Given the description of an element on the screen output the (x, y) to click on. 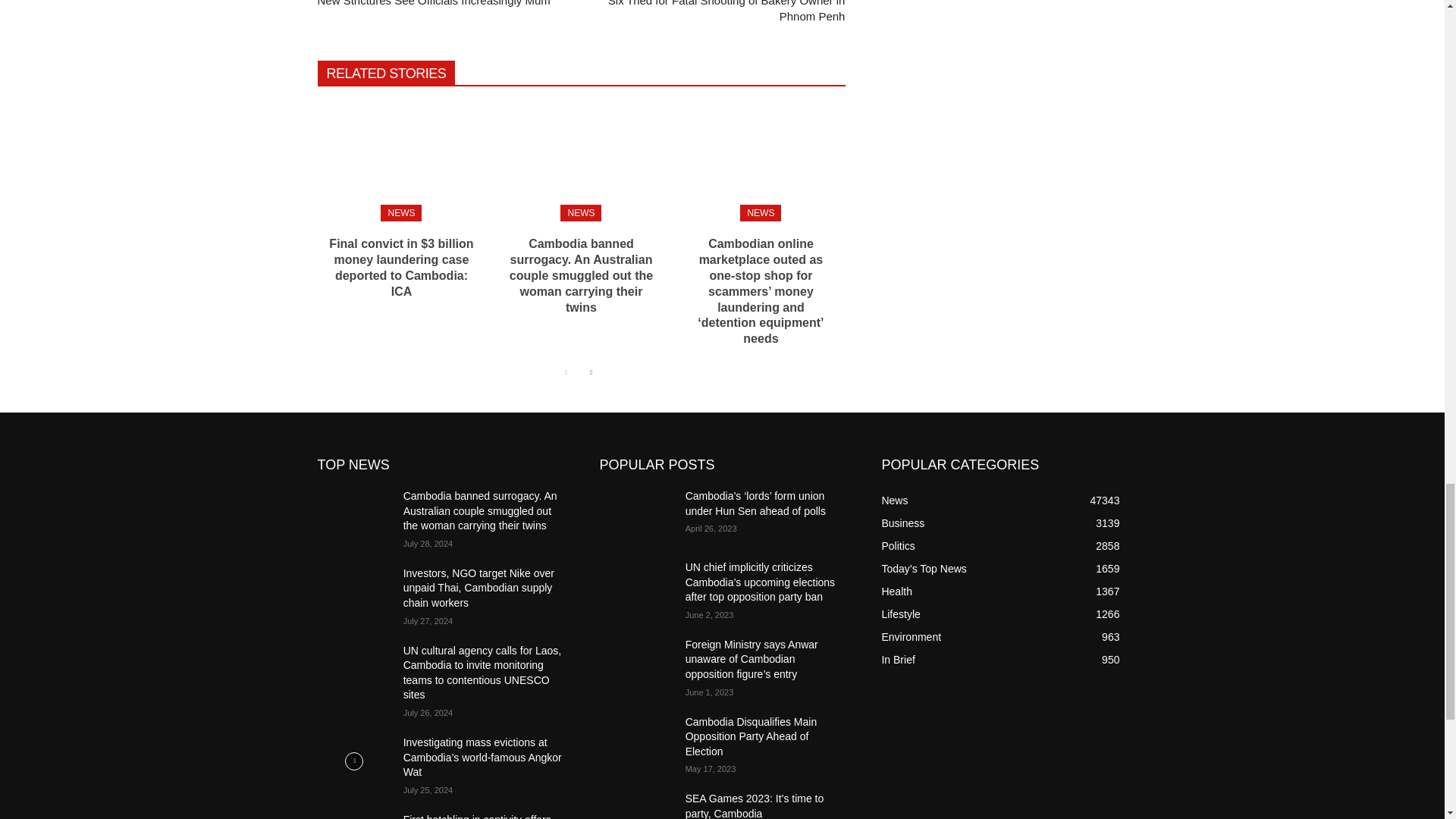
NEWS (759, 212)
NEWS (401, 212)
NEWS (580, 212)
Six Tried for Fatal Shooting of Bakery Owner in Phnom Penh (726, 11)
New Strictures See Officials Increasingly Mum (433, 3)
